Given the description of an element on the screen output the (x, y) to click on. 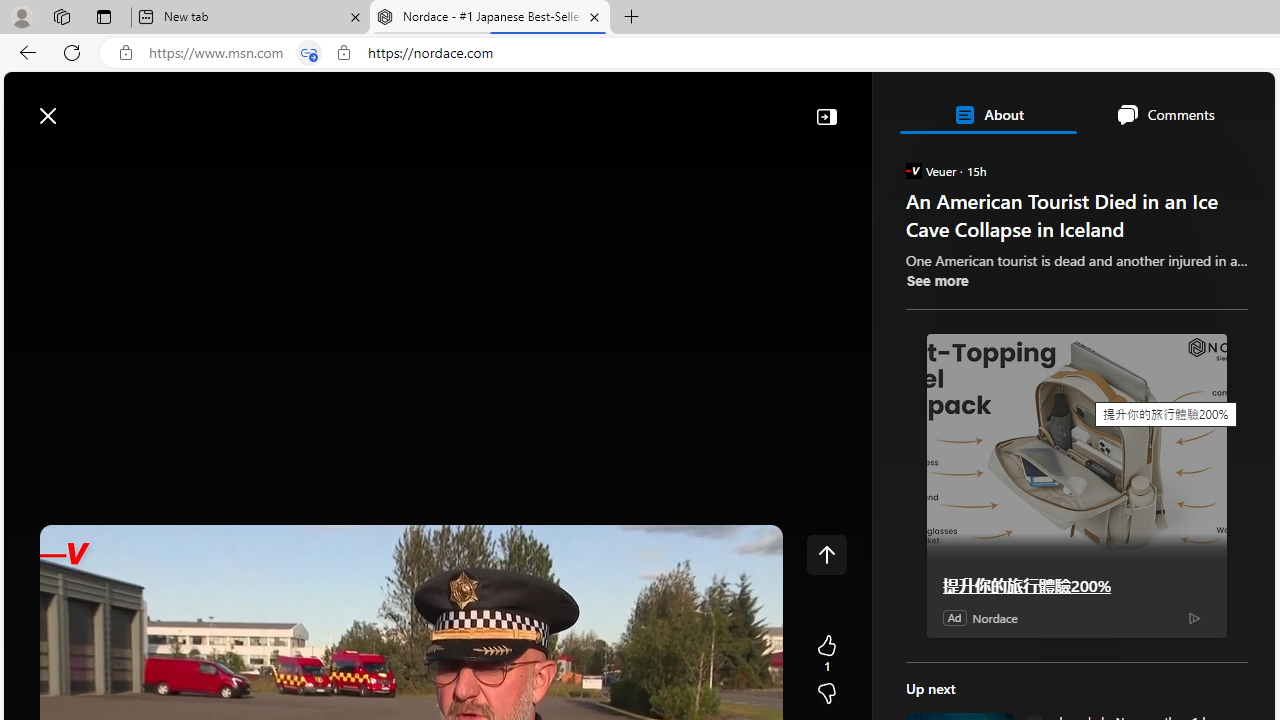
Open Copilot (995, 105)
Nordace (994, 617)
New Tab (632, 17)
The Associated Press (974, 645)
Dislike (826, 693)
Open navigation menu (29, 162)
ABC News (974, 557)
See more (936, 280)
Workspaces (61, 16)
Ad (954, 617)
